Given the description of an element on the screen output the (x, y) to click on. 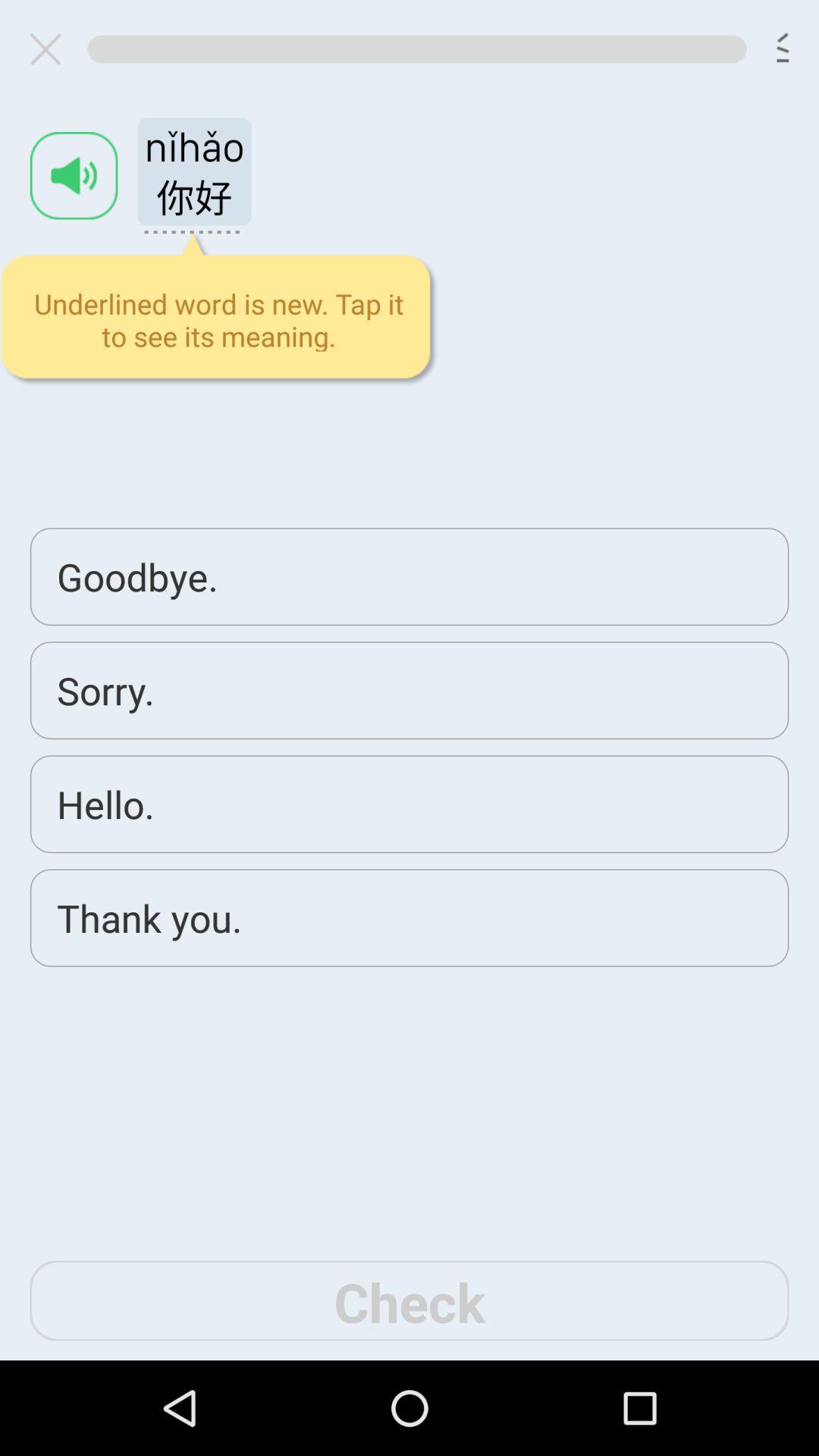
play word (73, 175)
